Given the description of an element on the screen output the (x, y) to click on. 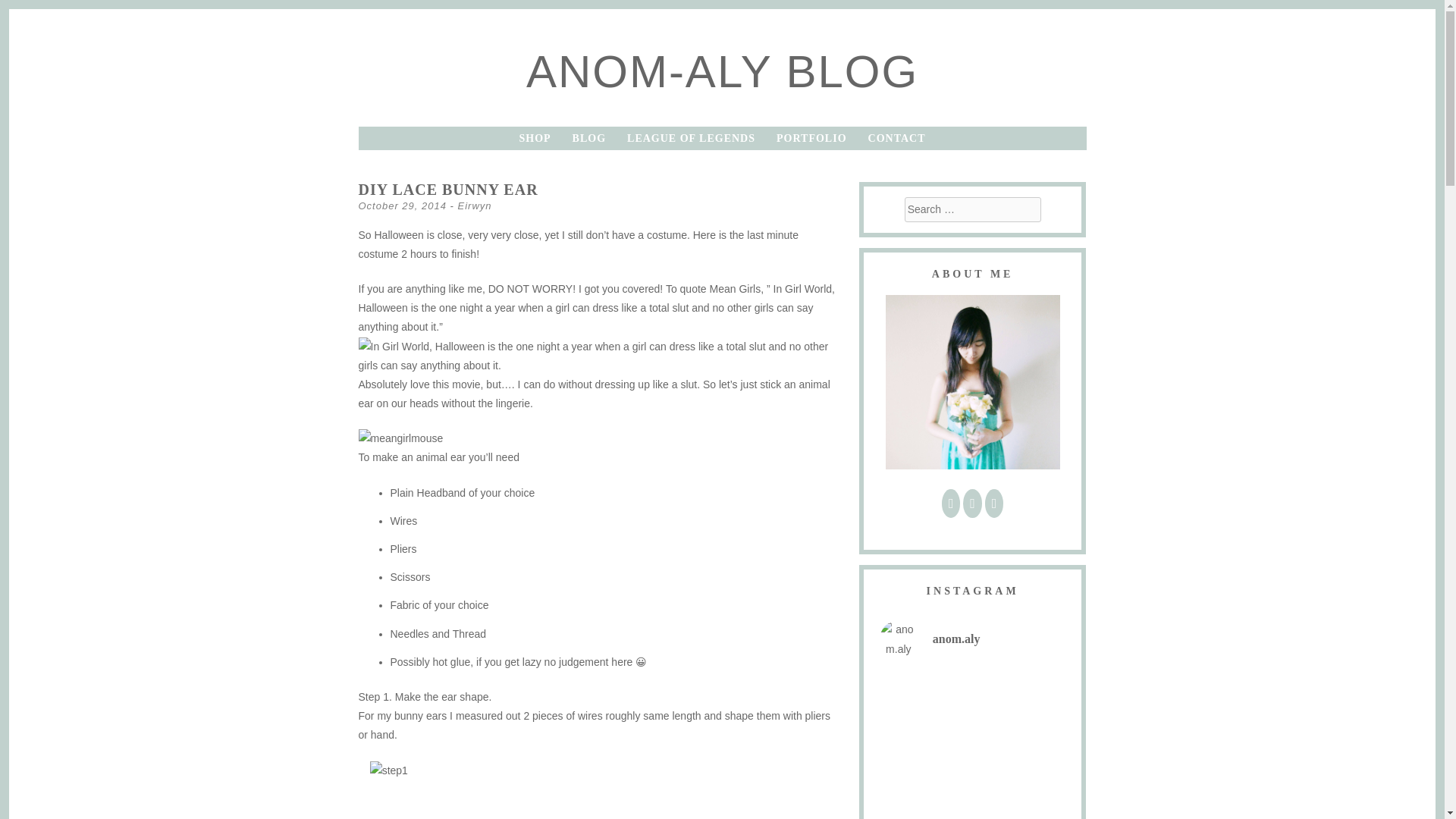
CONTACT (896, 138)
October 29, 2014 (401, 205)
LEAGUE OF LEGENDS (691, 138)
SHOP (534, 138)
ANOM-ALY BLOG (721, 71)
PORTFOLIO (811, 138)
BLOG (588, 138)
anom.aly (972, 638)
Eirwyn (475, 205)
Search (707, 12)
